Given the description of an element on the screen output the (x, y) to click on. 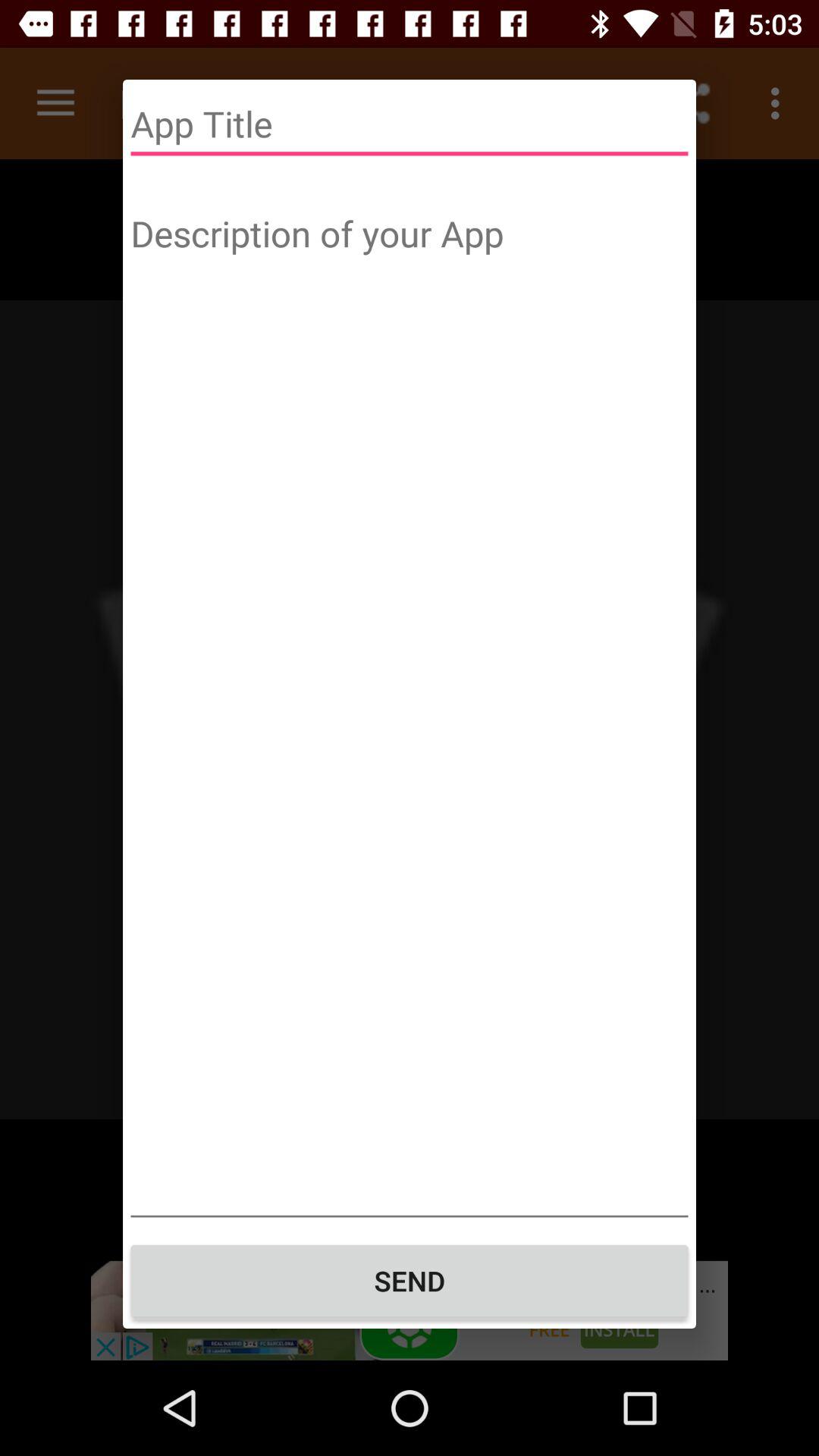
press icon at the bottom (409, 1280)
